Given the description of an element on the screen output the (x, y) to click on. 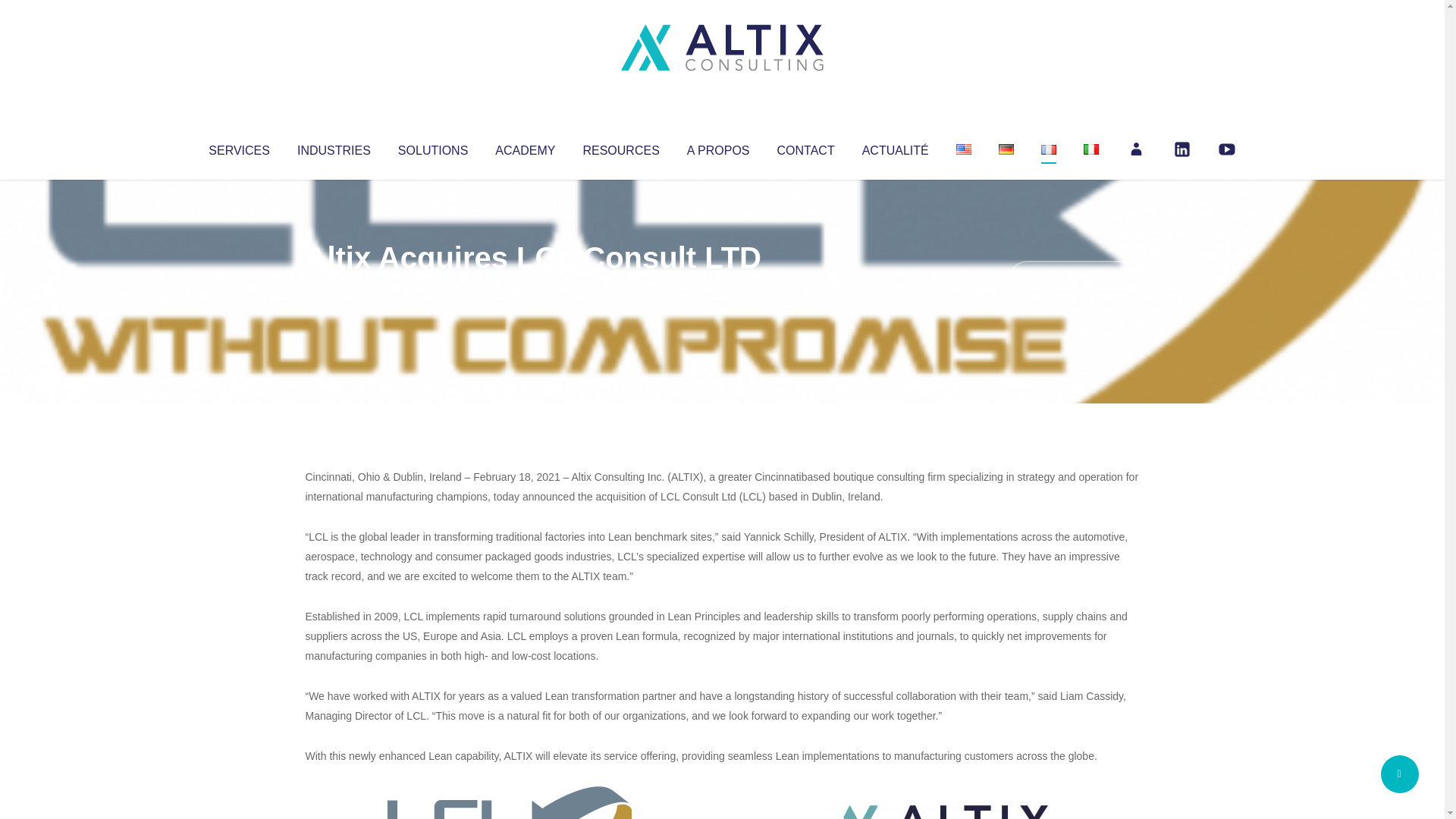
Uncategorized (530, 287)
Articles par Altix (333, 287)
RESOURCES (620, 146)
Altix (333, 287)
SOLUTIONS (432, 146)
SERVICES (238, 146)
INDUSTRIES (334, 146)
A PROPOS (718, 146)
ACADEMY (524, 146)
No Comments (1073, 278)
